Given the description of an element on the screen output the (x, y) to click on. 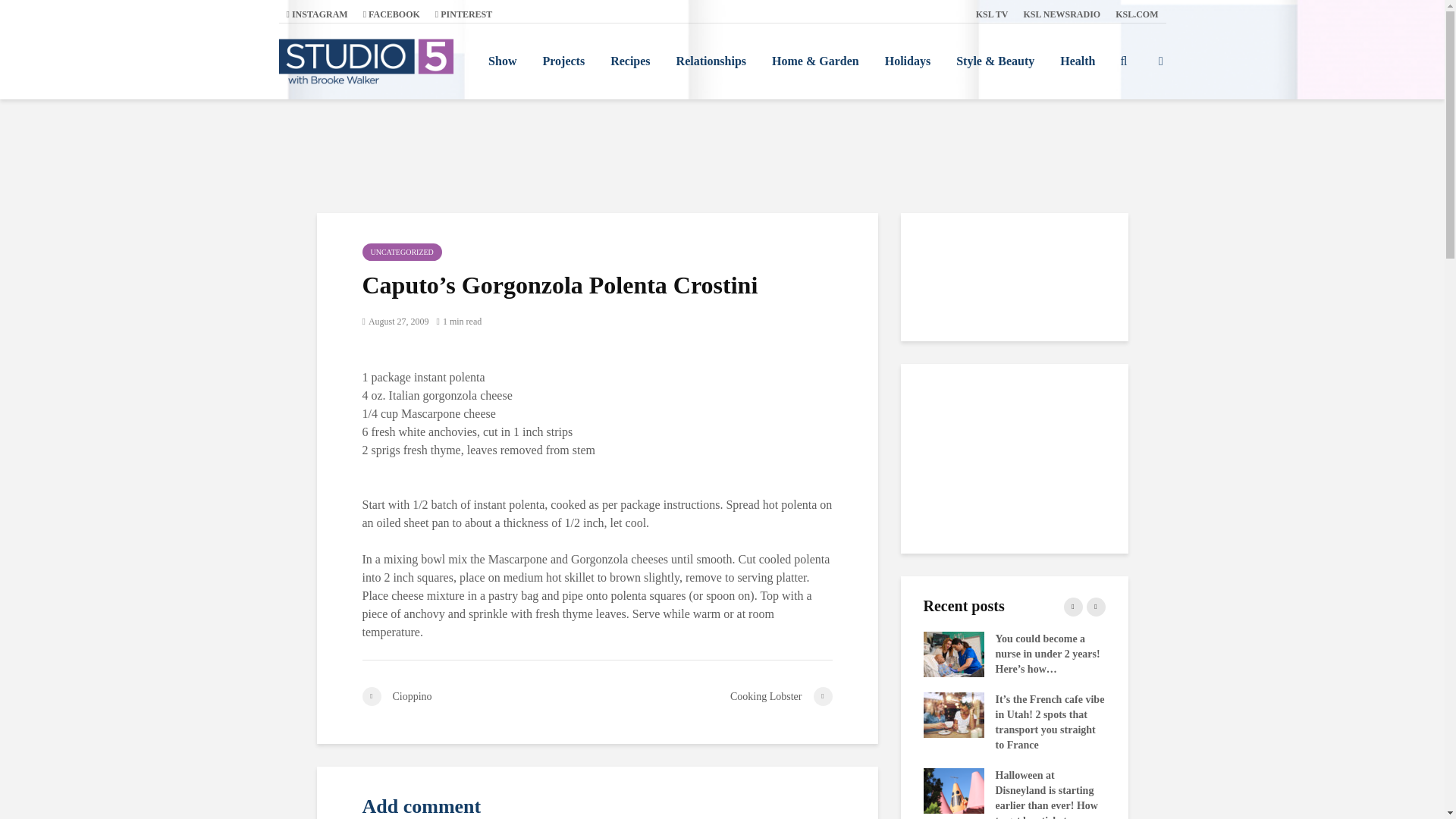
PINTEREST (463, 14)
3rd party ad content (1014, 458)
Relationships (711, 60)
Health (1077, 60)
INSTAGRAM (317, 14)
Holidays (907, 60)
Recipes (629, 60)
Utah at the Olympics: 5 local connections to the Paris Games (684, 790)
Tech Check: 4 modern-day tech pioneers right here in Utah (865, 653)
3rd party ad content (721, 156)
KSL NEWSRADIO (1061, 14)
Show (502, 60)
